Given the description of an element on the screen output the (x, y) to click on. 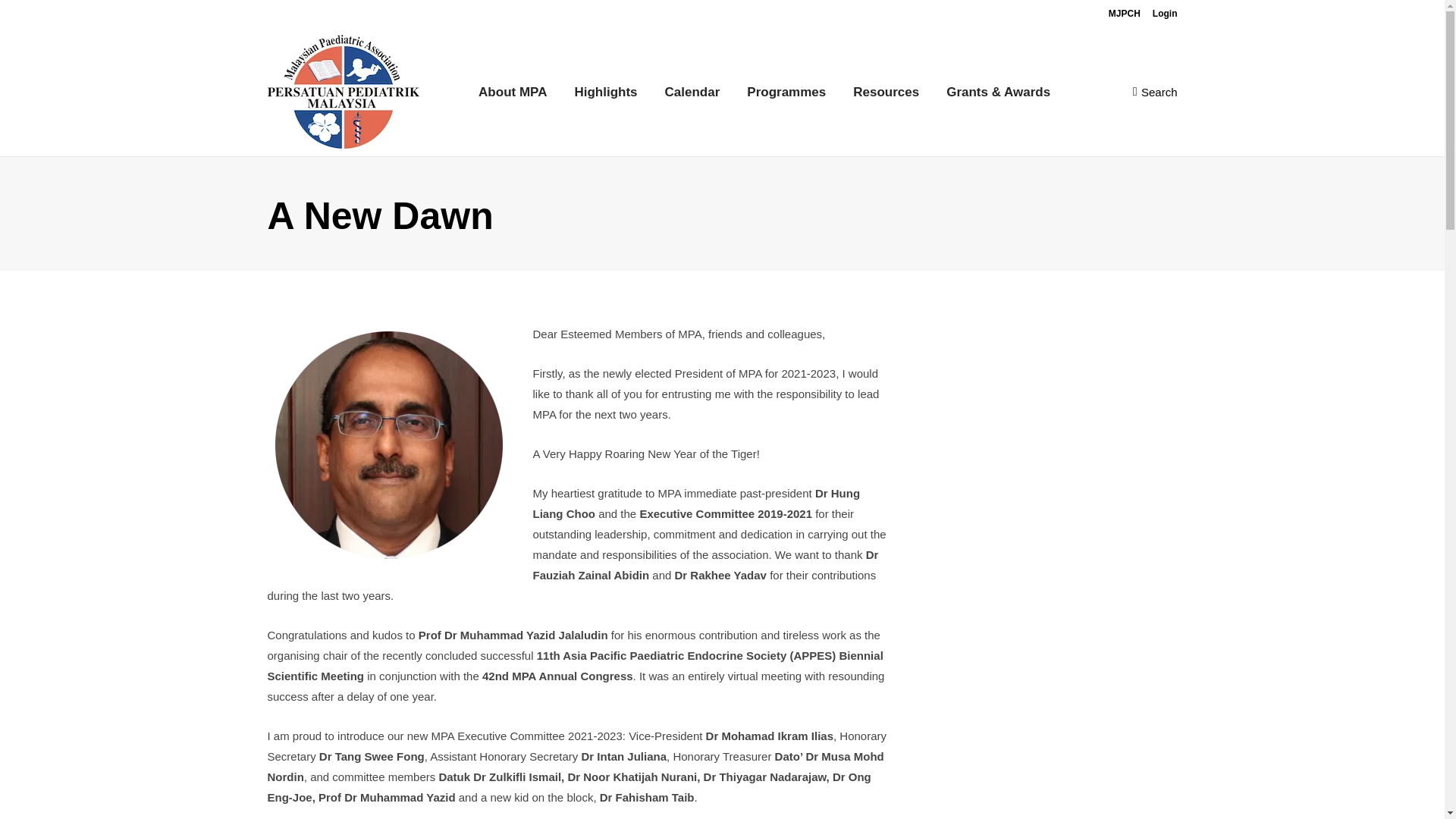
MJPCH (1124, 13)
Login (1165, 13)
Search (1154, 92)
